Given the description of an element on the screen output the (x, y) to click on. 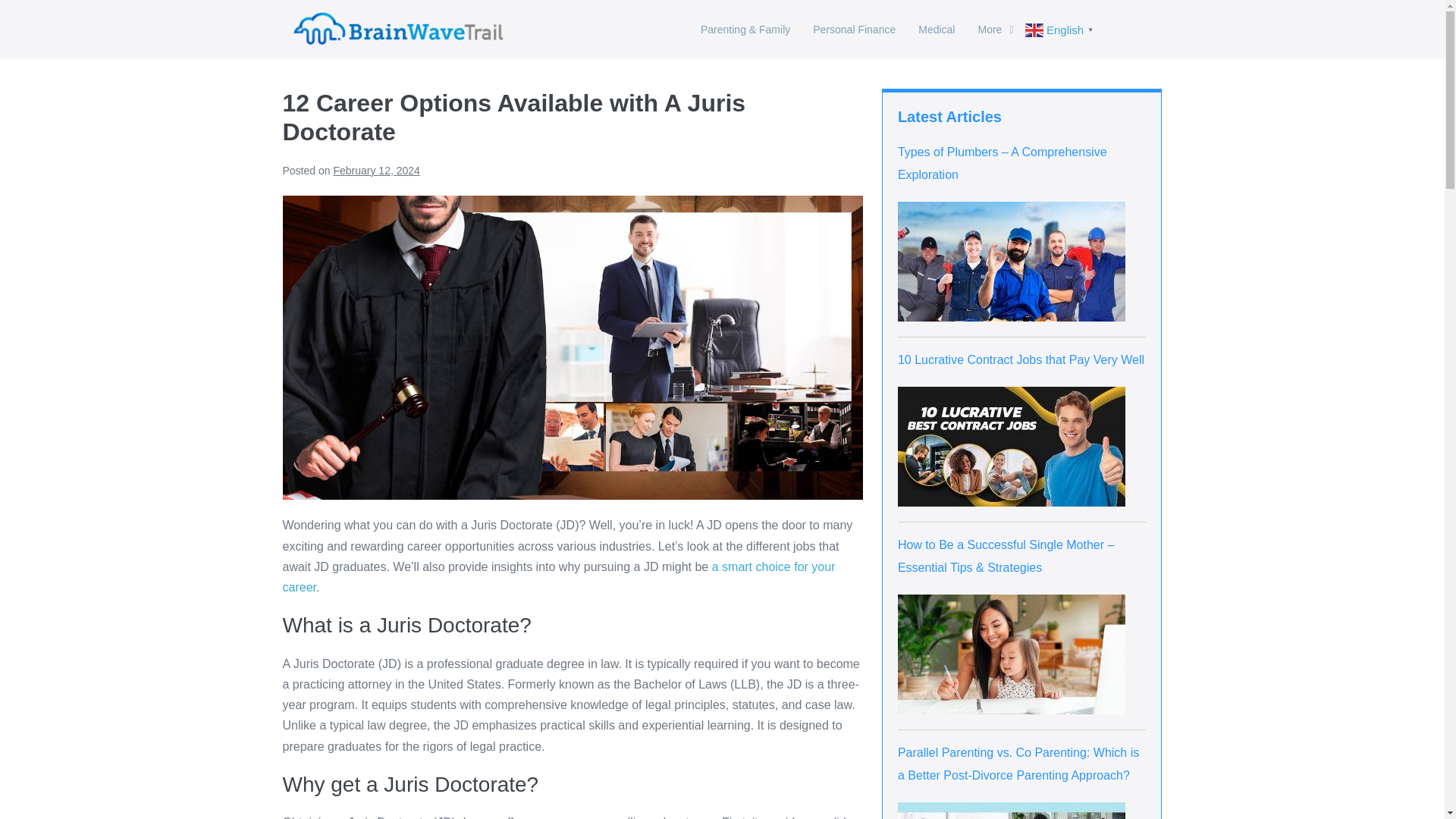
Personal Finance (854, 28)
Search (1137, 28)
More (995, 28)
Medical (936, 28)
